Given the description of an element on the screen output the (x, y) to click on. 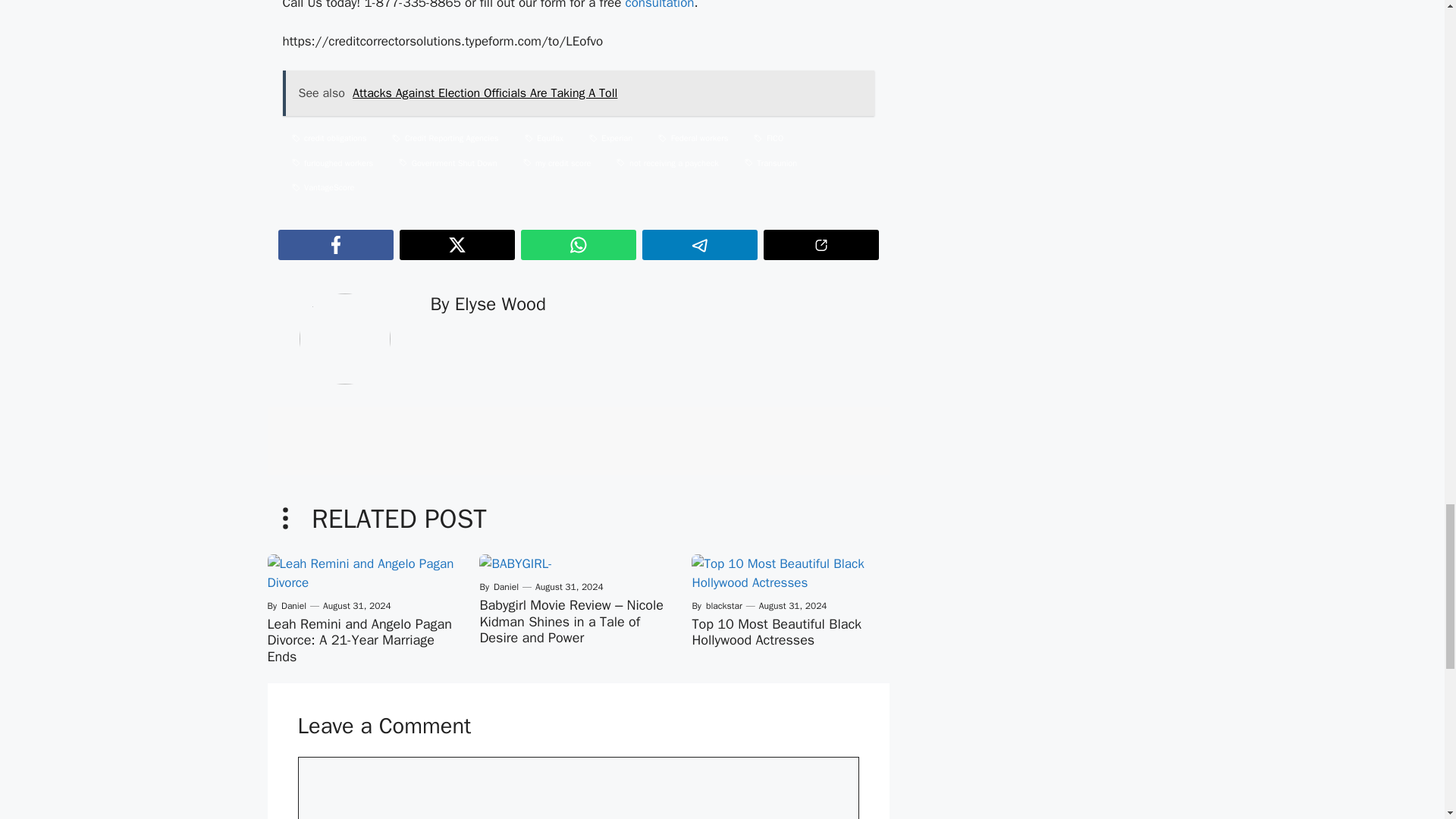
Credit Reporting Agencies (444, 138)
furloughed workers (331, 162)
By Elyse Wood (488, 303)
Federal workers (692, 138)
VantageScore (322, 187)
Experian (610, 138)
consultation (659, 5)
not receiving a paycheck (666, 162)
credit obligations (328, 138)
FICO (768, 138)
